Given the description of an element on the screen output the (x, y) to click on. 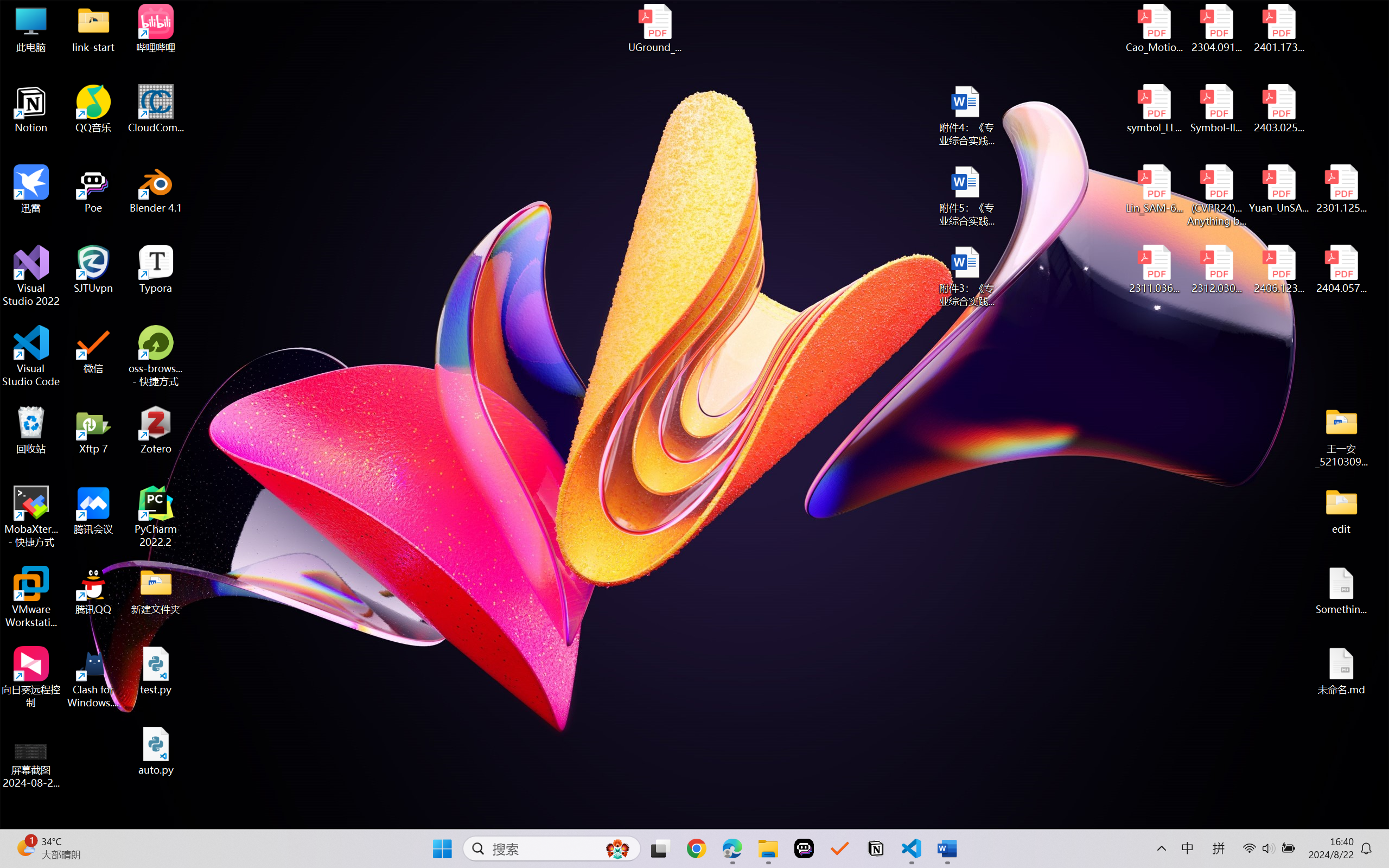
2304.09121v3.pdf (1216, 28)
UGround_paper.pdf (654, 28)
Blender 4.1 (156, 189)
2404.05719v1.pdf (1340, 269)
